Given the description of an element on the screen output the (x, y) to click on. 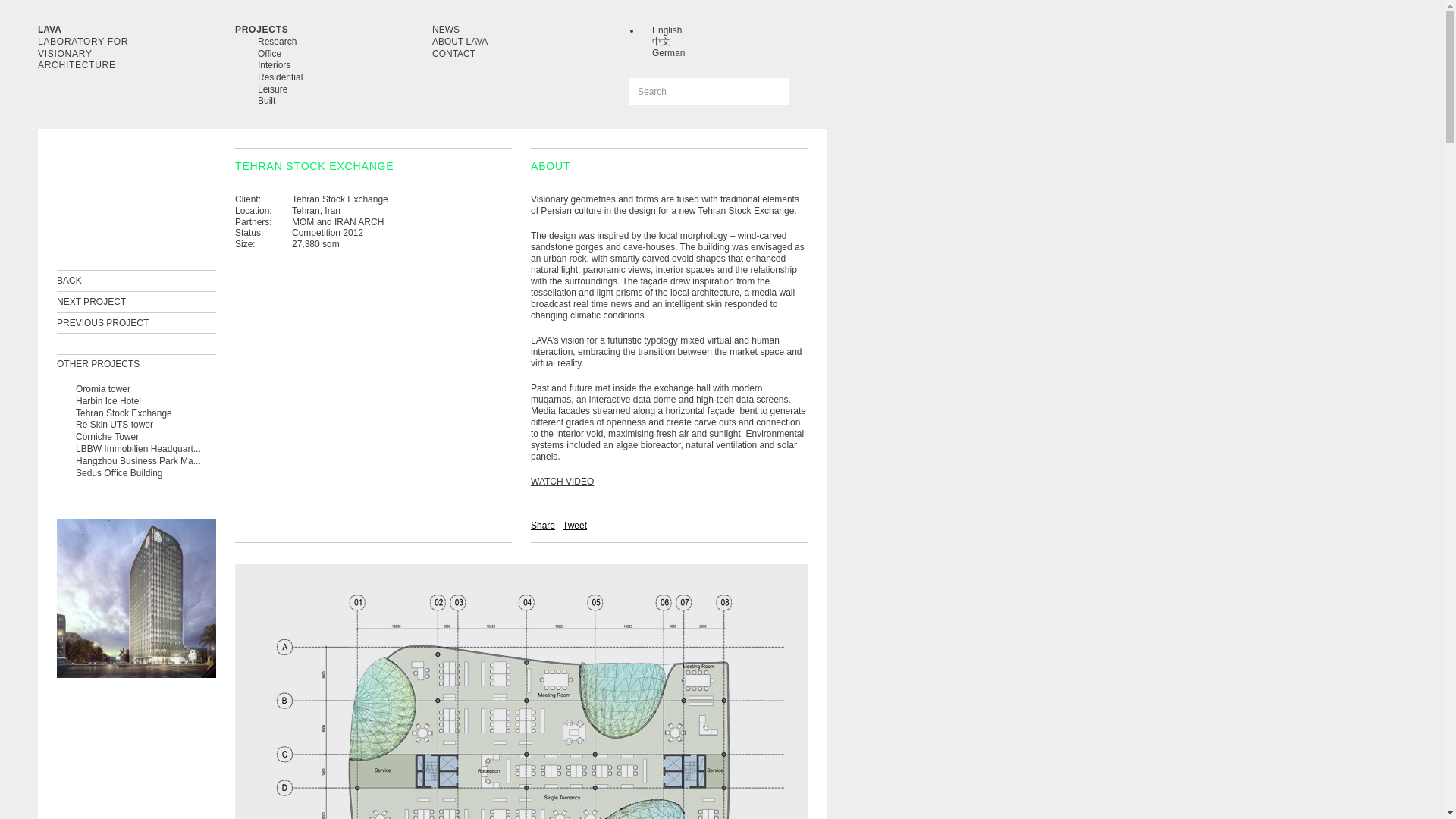
Residential (279, 77)
Tehran Stock Exchange (123, 412)
PREVIOUS PROJECT (102, 322)
Share on Facebook (542, 525)
LAVA (49, 29)
Leisure (271, 89)
Sedus Office Building (119, 472)
Sedus Office Building (119, 472)
Oromia tower (103, 388)
English (666, 30)
